Given the description of an element on the screen output the (x, y) to click on. 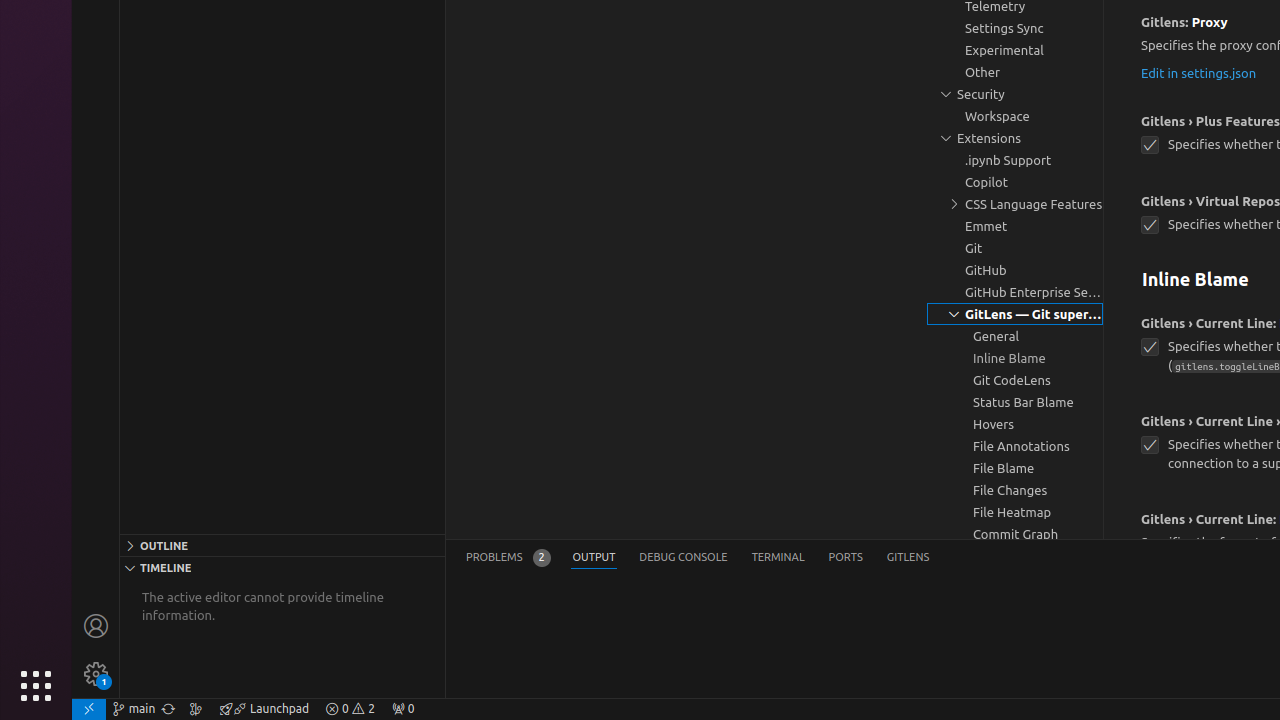
Manage - New Code update available. Element type: push-button (96, 674)
Warnings: 2 Element type: push-button (350, 709)
gitlens.currentLine.pullRequests.enabled Element type: check-box (1150, 445)
GitLens — Git supercharged, group Element type: tree-item (1015, 314)
Problems (Ctrl+Shift+M) - Total 2 Problems Element type: page-tab (507, 557)
